Given the description of an element on the screen output the (x, y) to click on. 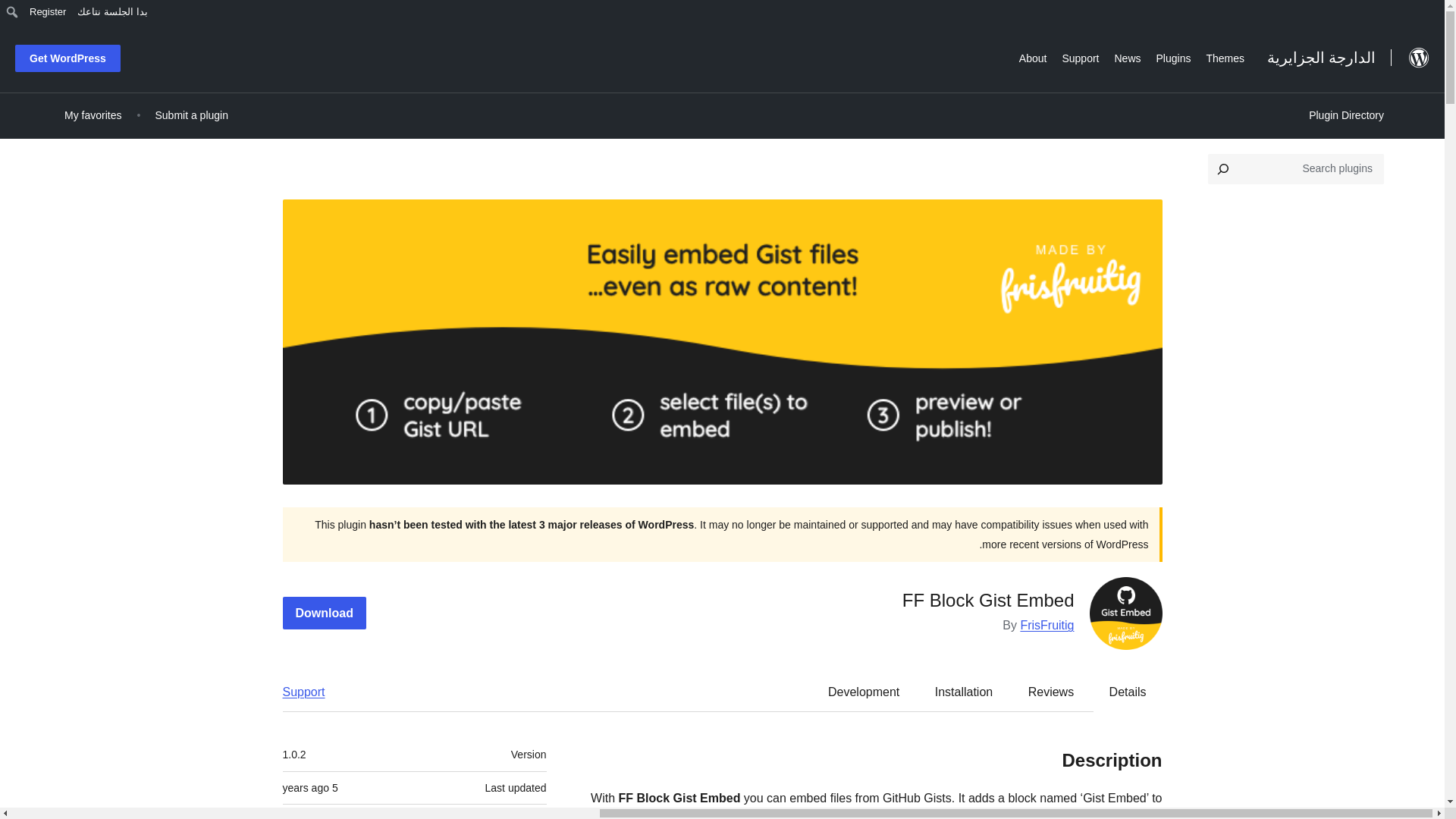
Support (1080, 56)
Submit a plugin (191, 115)
My favorites (93, 115)
About (1032, 56)
Details (1127, 692)
News (1127, 56)
Reviews (1051, 692)
Development (863, 692)
Themes (1225, 56)
Plugin Directory (1345, 115)
FrisFruitig (1047, 625)
Get WordPress (67, 58)
Installation (964, 692)
Download (323, 613)
